Given the description of an element on the screen output the (x, y) to click on. 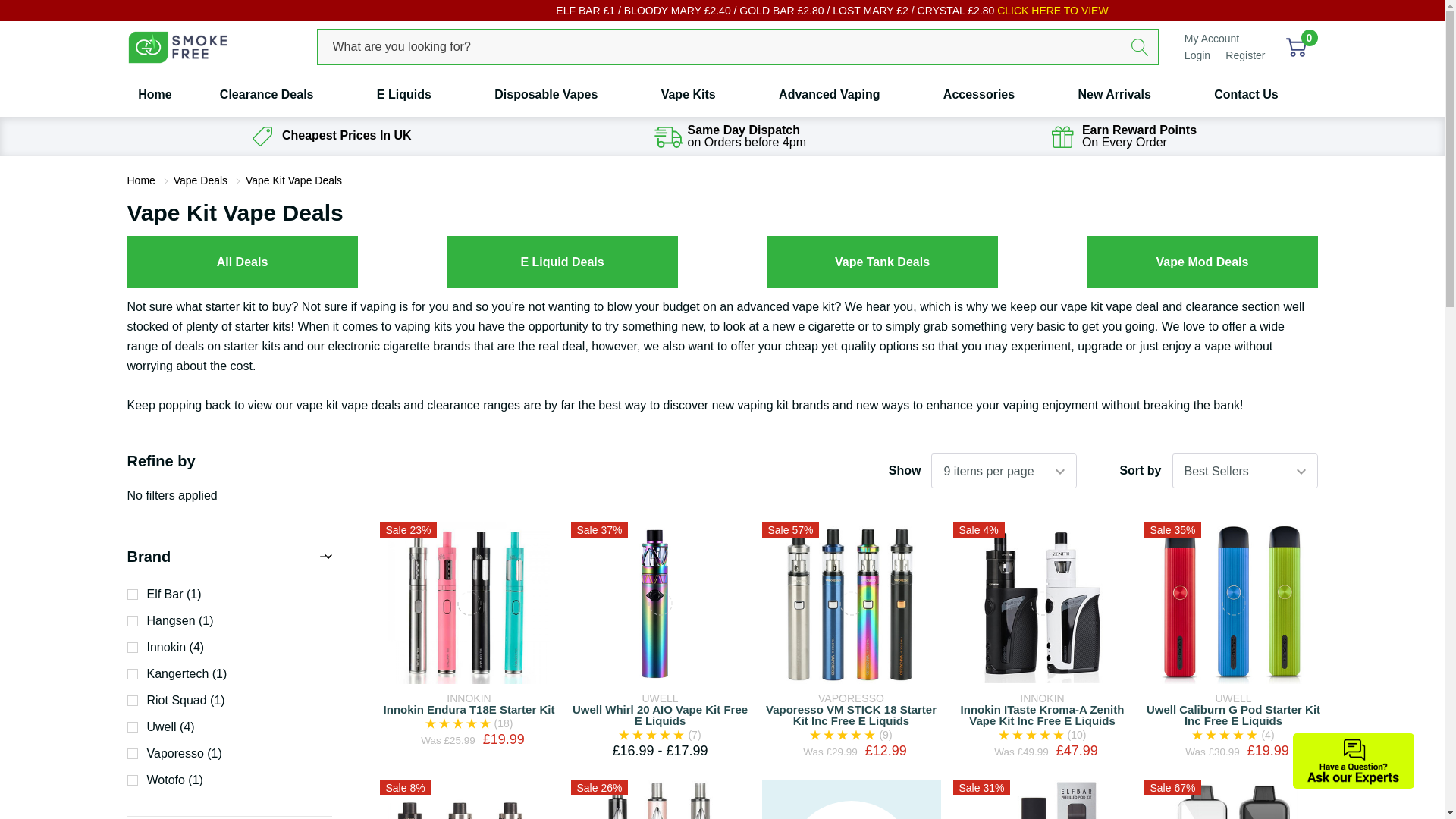
0 (1295, 46)
Uwell Caliburn G Pod Starter Kit (1233, 602)
Innokin Endura T18E Starter Kit (468, 602)
Clearance Deals (266, 94)
Login (1198, 55)
Home (161, 94)
Uwell Whirl 20 AIO Vape Kit Free E Liquids (659, 602)
E Liquids (403, 94)
Vaporesso VM STICK 18 Starter Kit Colours (850, 602)
Innokin Cool Fire Mini Slipstream Starter Kit 40w (468, 802)
www.gosmokefree.co.uk (178, 47)
Innokin Jem Pen Starter Kit (659, 799)
Elfa Pod Kit By Elf Bar (1041, 799)
Register (1245, 55)
